Given the description of an element on the screen output the (x, y) to click on. 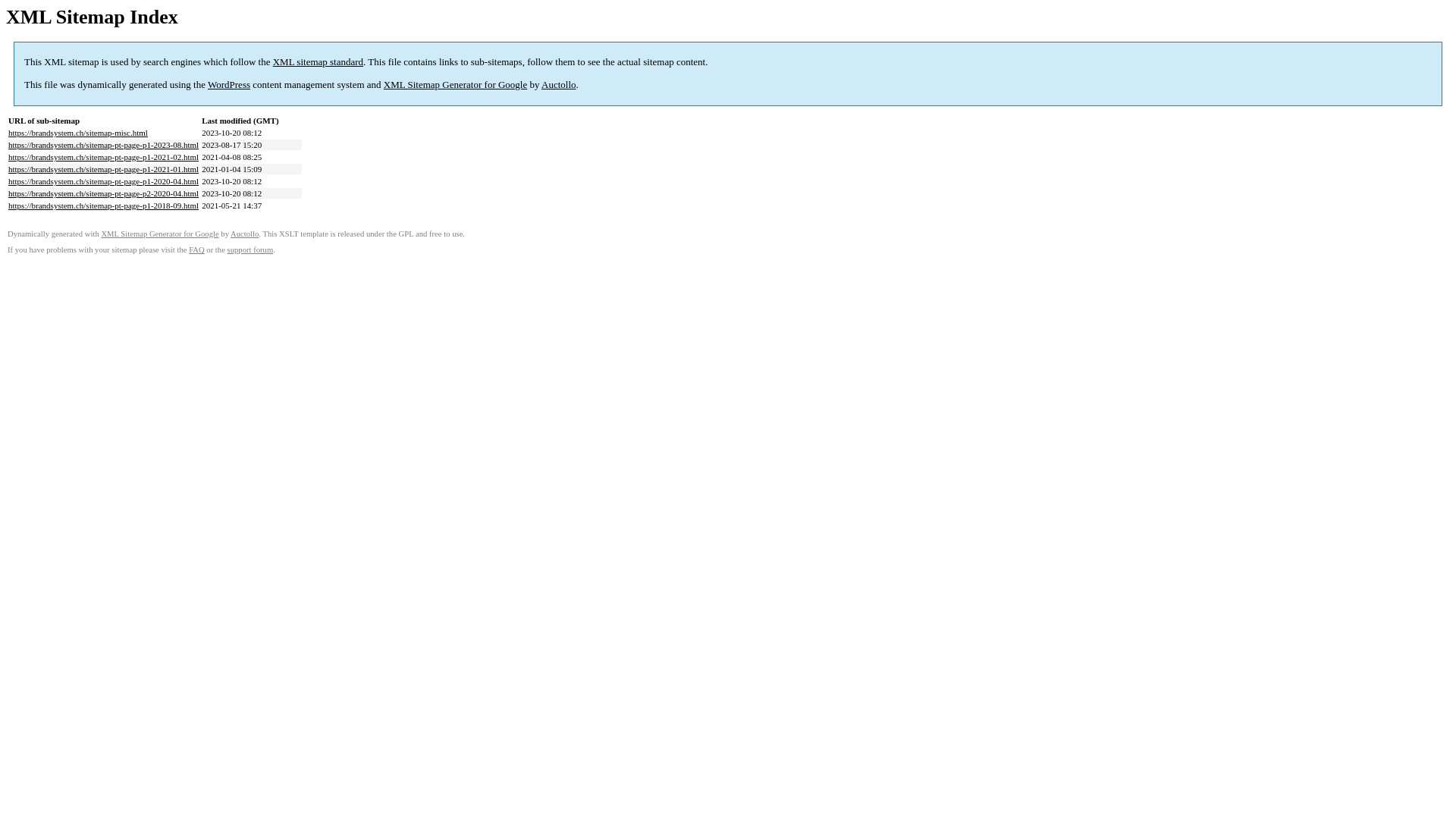
https://brandsystem.ch/sitemap-misc.html Element type: text (77, 132)
https://brandsystem.ch/sitemap-pt-page-p2-2020-04.html Element type: text (103, 192)
https://brandsystem.ch/sitemap-pt-page-p1-2023-08.html Element type: text (103, 144)
Auctollo Element type: text (558, 84)
https://brandsystem.ch/sitemap-pt-page-p1-2021-01.html Element type: text (103, 168)
XML Sitemap Generator for Google Element type: text (455, 84)
WordPress Element type: text (228, 84)
XML sitemap standard Element type: text (318, 61)
FAQ Element type: text (196, 249)
support forum Element type: text (250, 249)
https://brandsystem.ch/sitemap-pt-page-p1-2021-02.html Element type: text (103, 156)
https://brandsystem.ch/sitemap-pt-page-p1-2018-09.html Element type: text (103, 205)
https://brandsystem.ch/sitemap-pt-page-p1-2020-04.html Element type: text (103, 180)
Auctollo Element type: text (244, 233)
XML Sitemap Generator for Google Element type: text (159, 233)
